Given the description of an element on the screen output the (x, y) to click on. 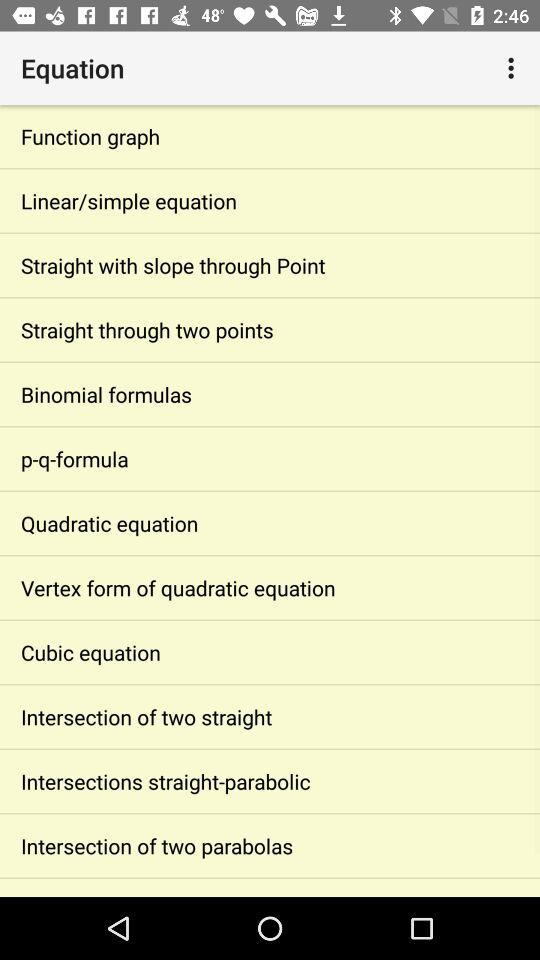
choose the app below the intersection of two (270, 781)
